Given the description of an element on the screen output the (x, y) to click on. 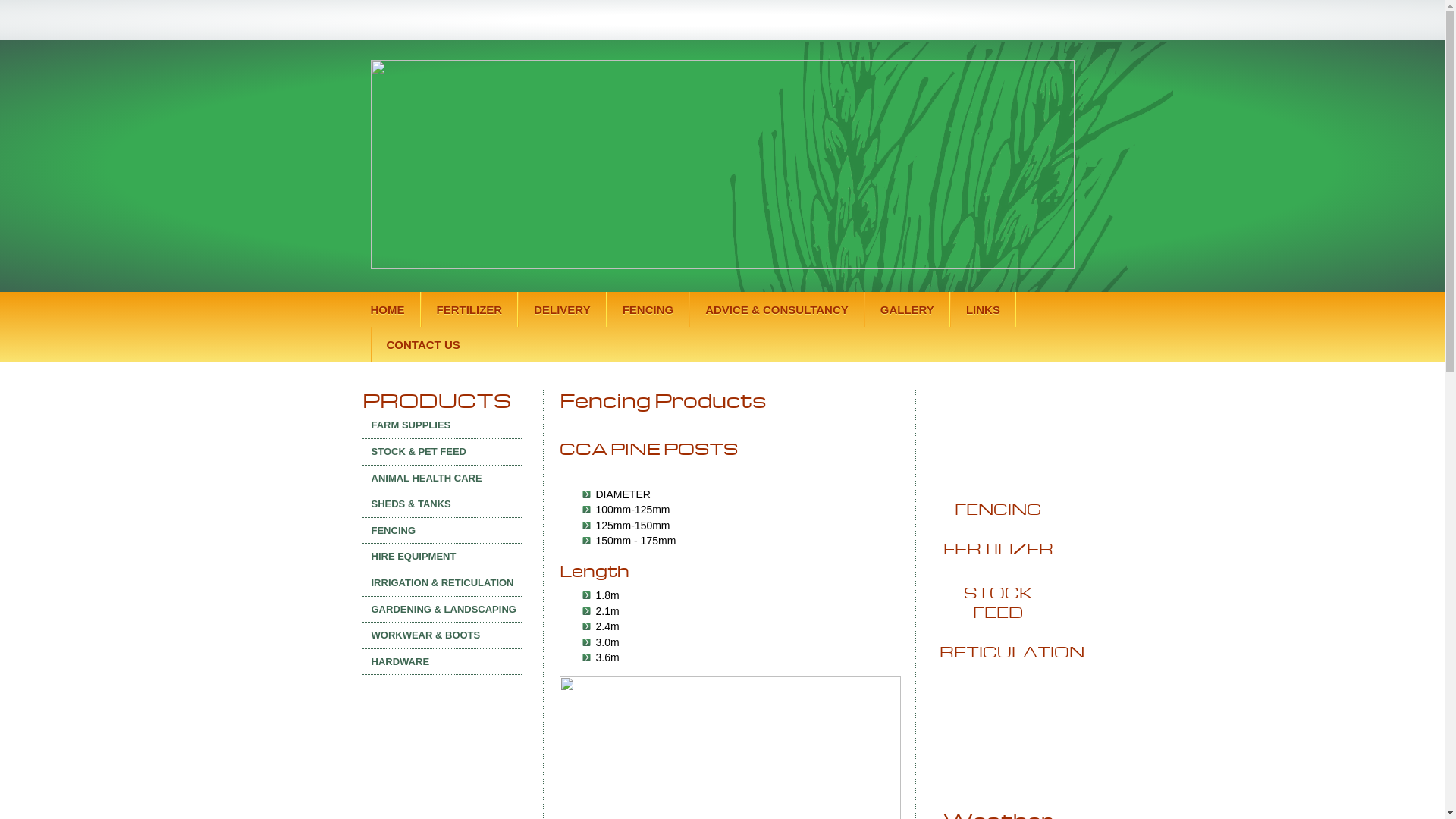
WORKWEAR & BOOTS Element type: text (441, 635)
HOME Element type: text (395, 308)
IRRIGATION & RETICULATION Element type: text (441, 583)
HARDWARE Element type: text (441, 661)
FERTILIZER Element type: text (468, 308)
LINKS Element type: text (983, 308)
GARDENING & LANDSCAPING Element type: text (441, 609)
GALLERY Element type: text (907, 308)
FENCING Element type: text (648, 308)
SHEDS & TANKS Element type: text (441, 504)
DELIVERY Element type: text (561, 308)
CONTACT US Element type: text (422, 343)
ADVICE & CONSULTANCY Element type: text (776, 308)
FENCING Element type: text (441, 530)
ANIMAL HEALTH CARE Element type: text (441, 478)
FARM SUPPLIES Element type: text (441, 425)
HIRE EQUIPMENT Element type: text (441, 556)
STOCK & PET FEED Element type: text (441, 451)
